Given the description of an element on the screen output the (x, y) to click on. 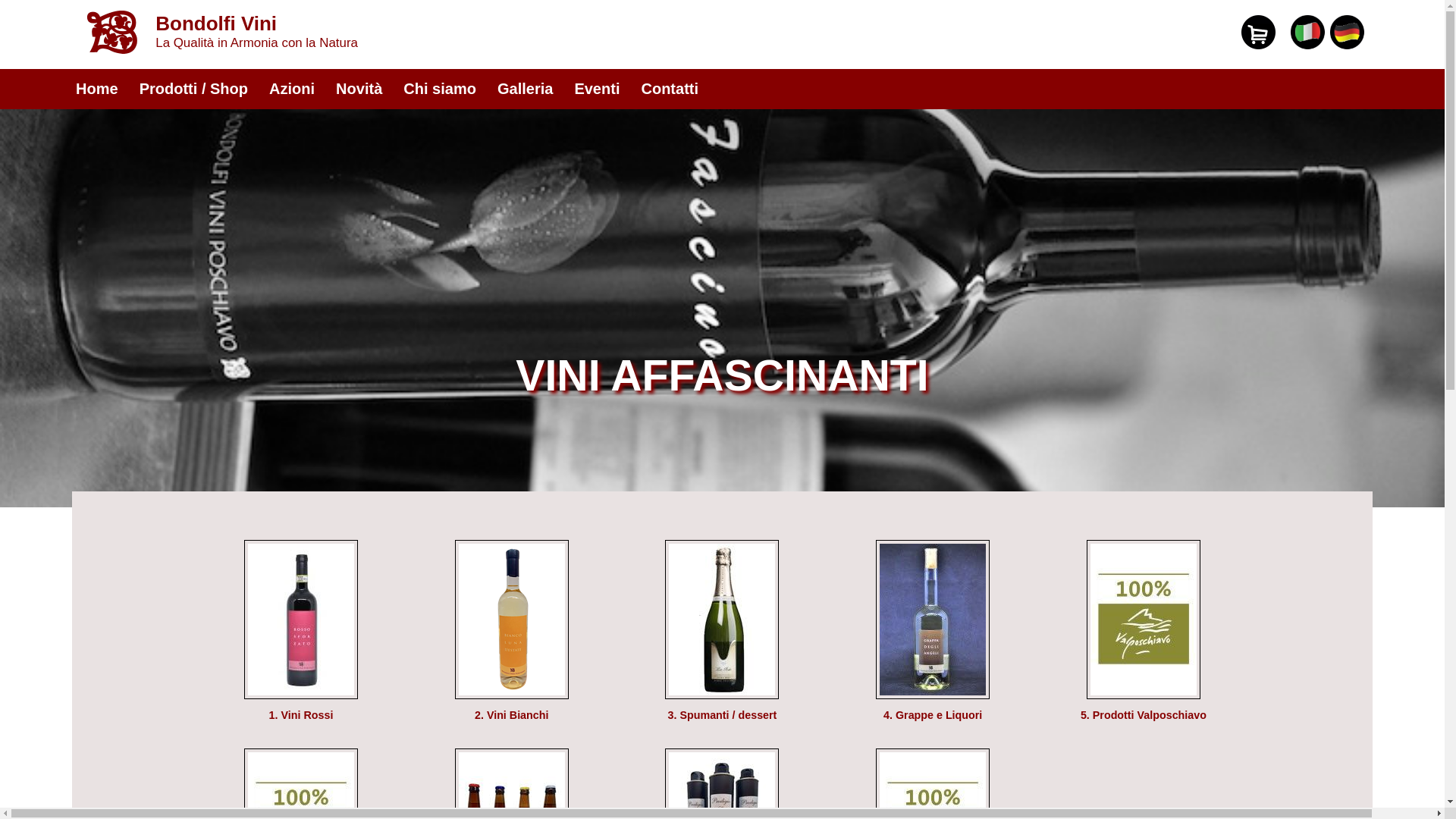
Deutsch Element type: hover (1347, 45)
4. Grappe e Liquori Element type: text (932, 715)
I prodotti tipici 100% Valposchiavo Element type: hover (1143, 695)
Azioni Element type: text (291, 87)
2. Vini Bianchi Element type: text (511, 715)
1. Vini Rossi Element type: text (301, 715)
5. Prodotti Valposchiavo Element type: text (1143, 715)
Prodotti / Shop Element type: text (193, 87)
La nostra selezione di vini bianchi italiani e spagnoli Element type: hover (511, 695)
Galleria Element type: text (524, 87)
Contatti Element type: text (669, 87)
Carrello vuoto Element type: hover (1258, 32)
Chi siamo Element type: text (439, 87)
Italiano Element type: hover (1307, 45)
Home Element type: text (96, 87)
3. Spumanti / dessert Element type: text (722, 715)
Eventi Element type: text (596, 87)
  Element type: text (1370, 5)
La nostra selezione di vini spumanti e da dessert italiani Element type: hover (721, 695)
La nostra selezione di grappe e liquiri svizzeri e italiani Element type: hover (932, 695)
VINI AFFASCINANTI Element type: text (721, 375)
